Given the description of an element on the screen output the (x, y) to click on. 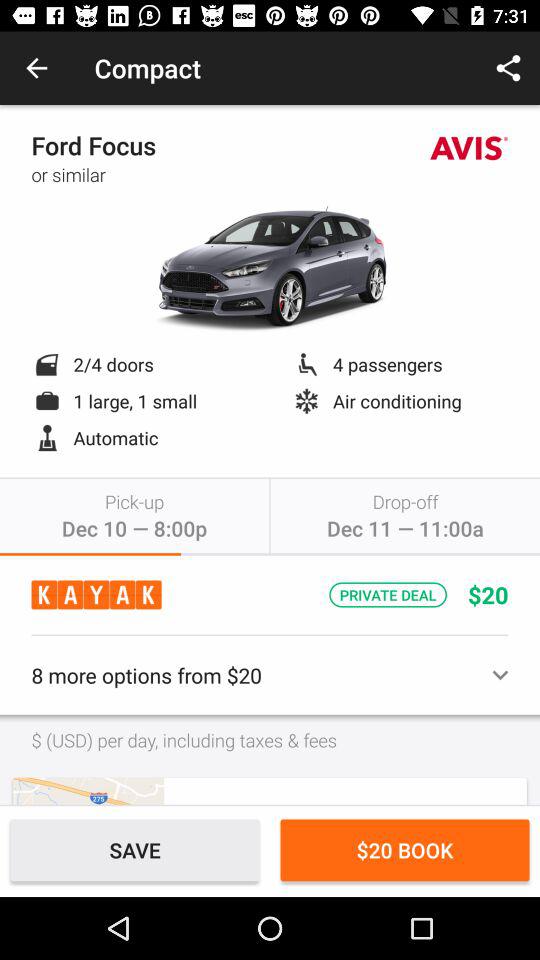
swipe until the $20 book icon (404, 850)
